Given the description of an element on the screen output the (x, y) to click on. 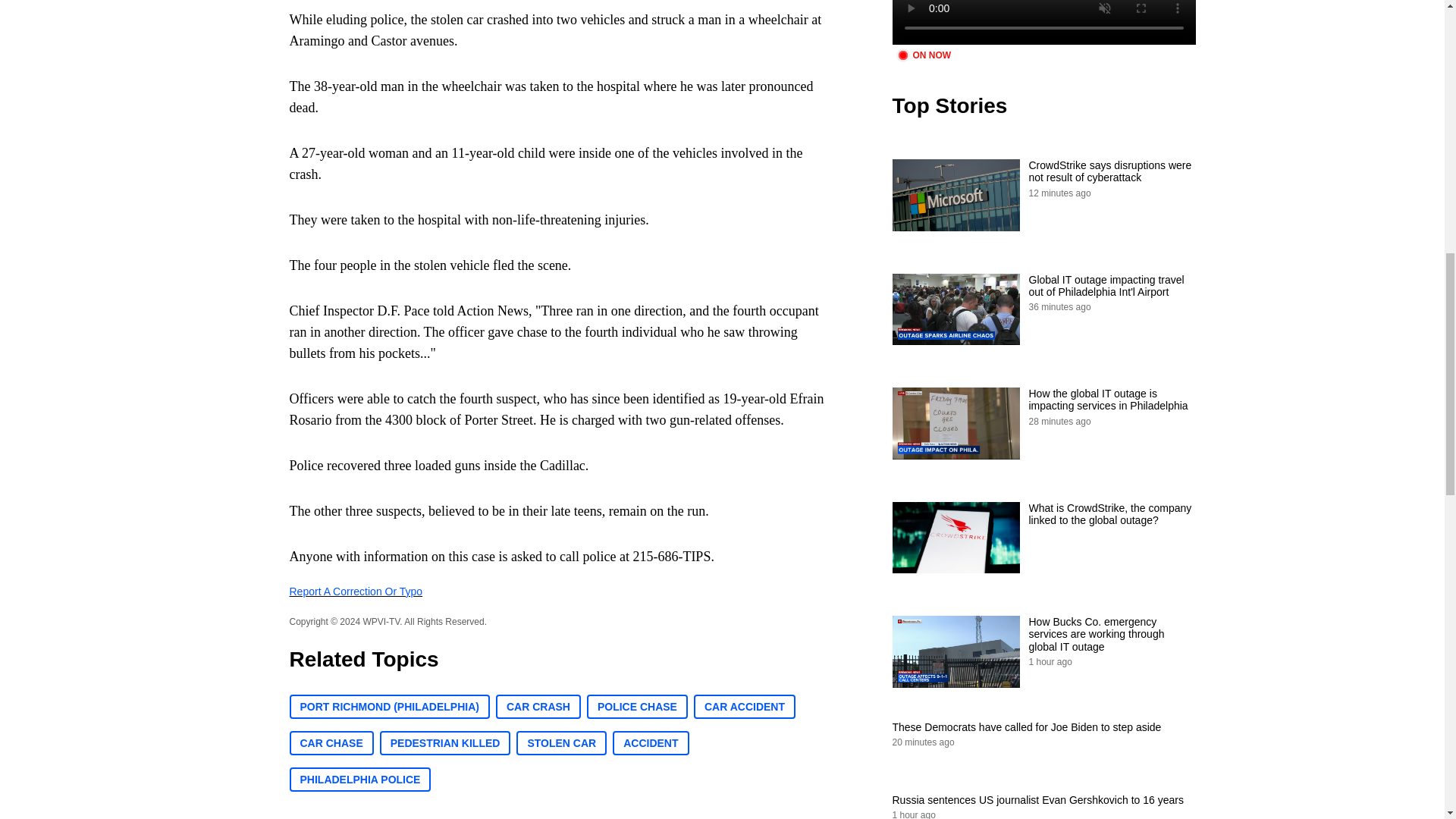
video.title (1043, 22)
